Given the description of an element on the screen output the (x, y) to click on. 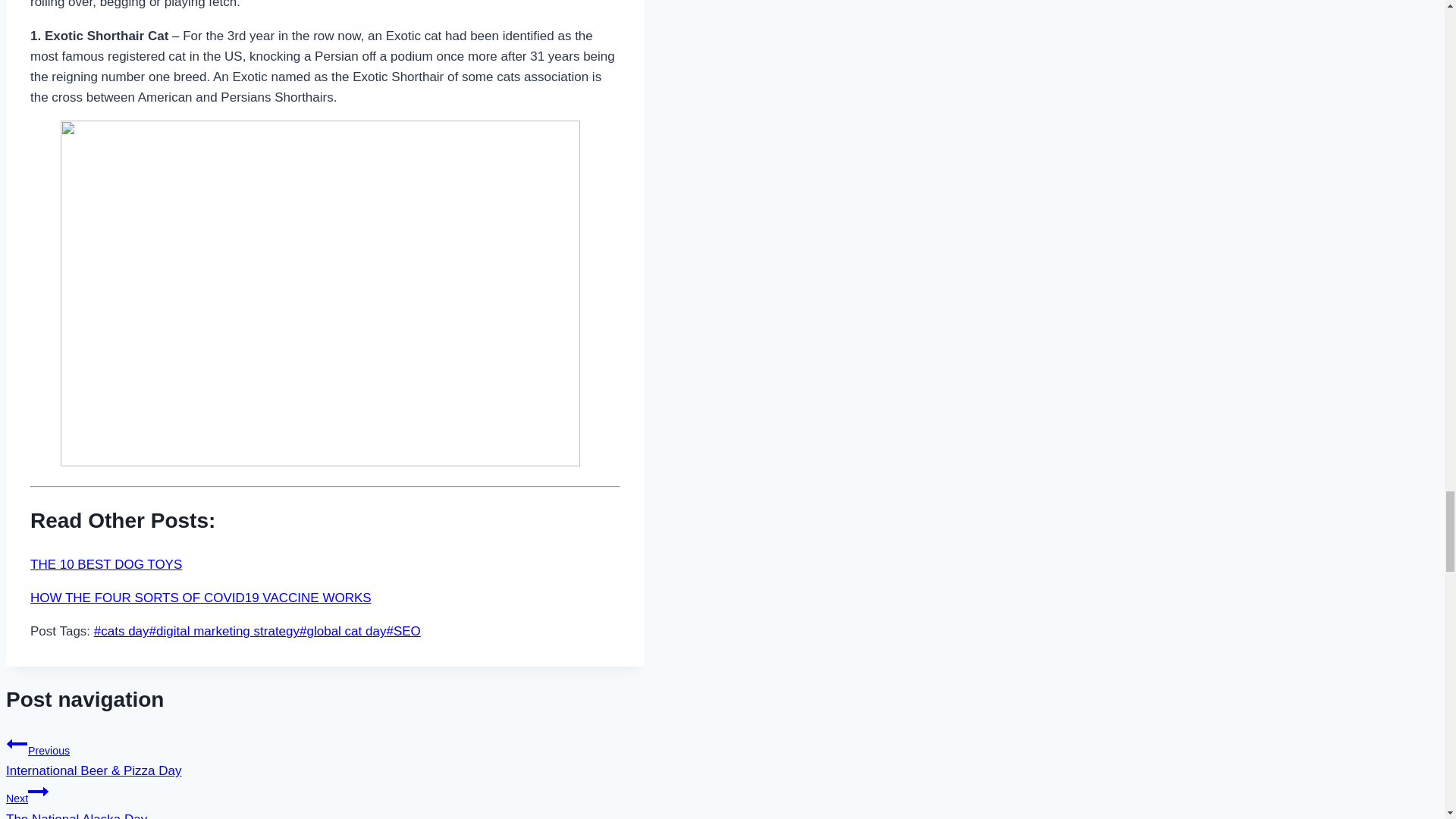
HOW THE FOUR SORTS OF COVID19 VACCINE WORKS (200, 597)
Continue (37, 791)
THE 10 BEST DOG TOYS (106, 564)
SEO (402, 631)
digital marketing strategy (224, 631)
global cat day (342, 631)
Previous (16, 743)
cats day (121, 631)
